Given the description of an element on the screen output the (x, y) to click on. 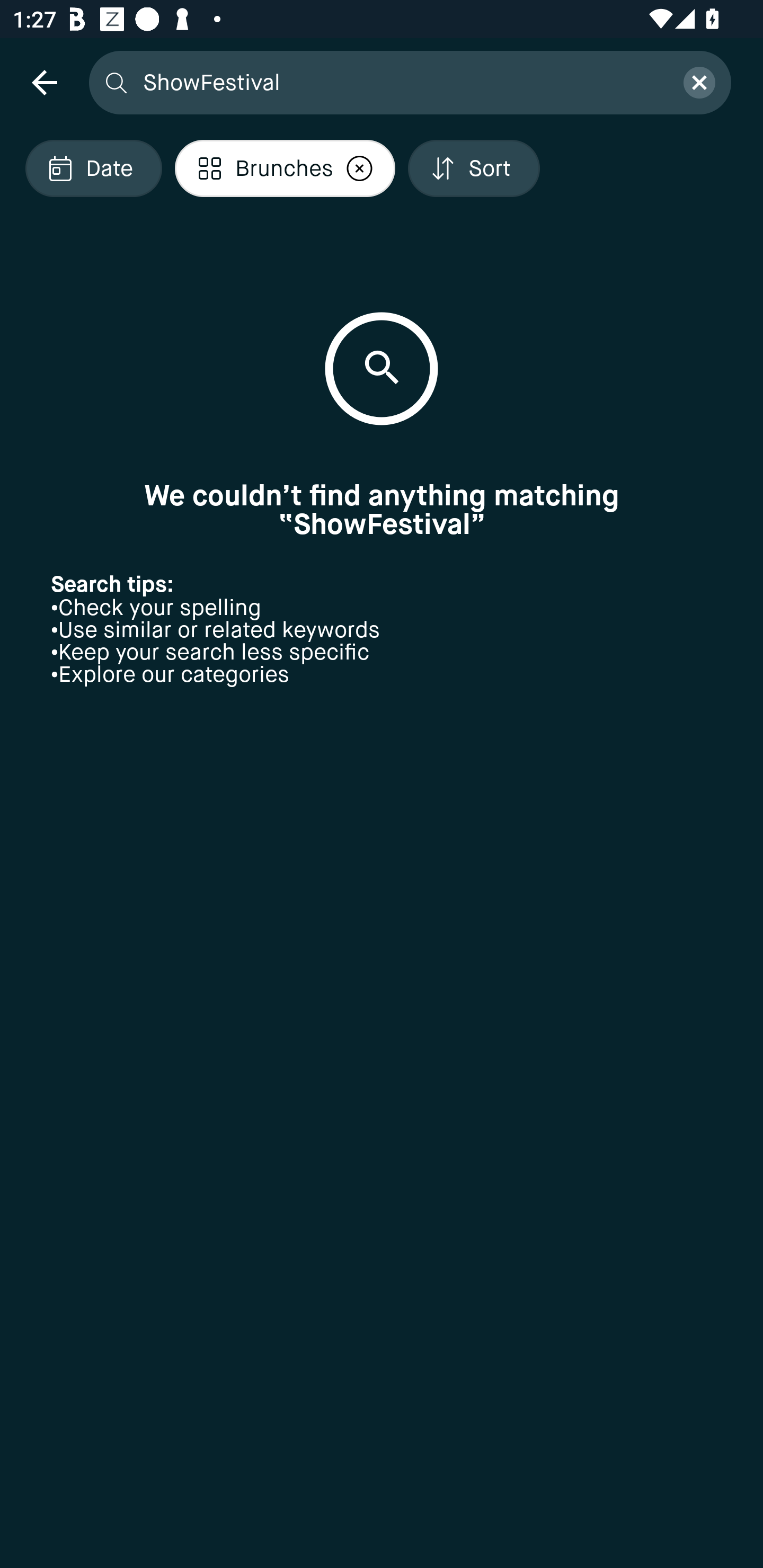
navigation icon (44, 81)
ShowFestival (402, 81)
Localized description Date (93, 168)
Localized description (359, 168)
Localized description Sort (474, 168)
We couldn’t find anything matching “ShowFestival” (381, 509)
